Given the description of an element on the screen output the (x, y) to click on. 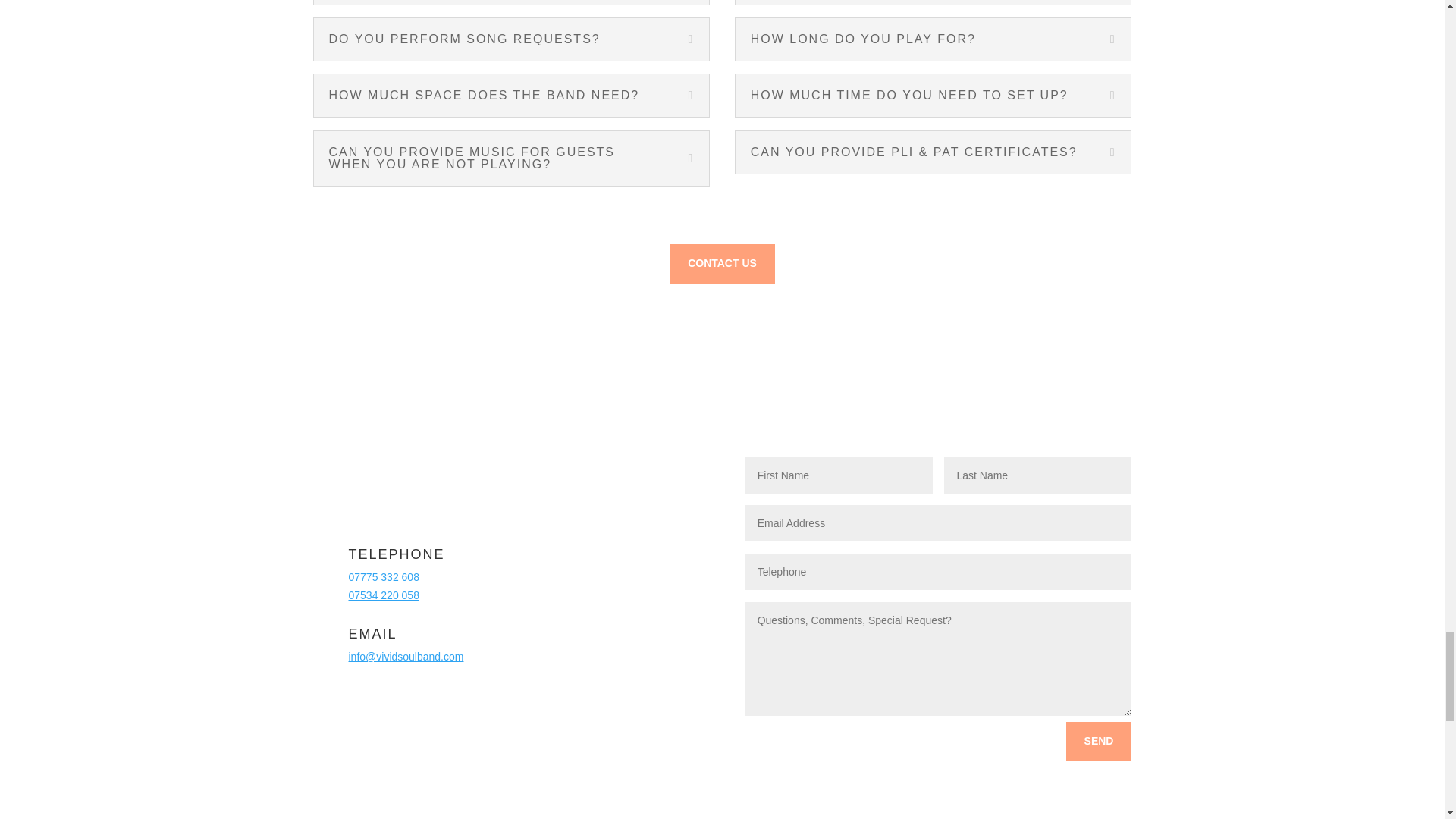
CONTACT US (721, 263)
07775 332 608 (384, 576)
